Given the description of an element on the screen output the (x, y) to click on. 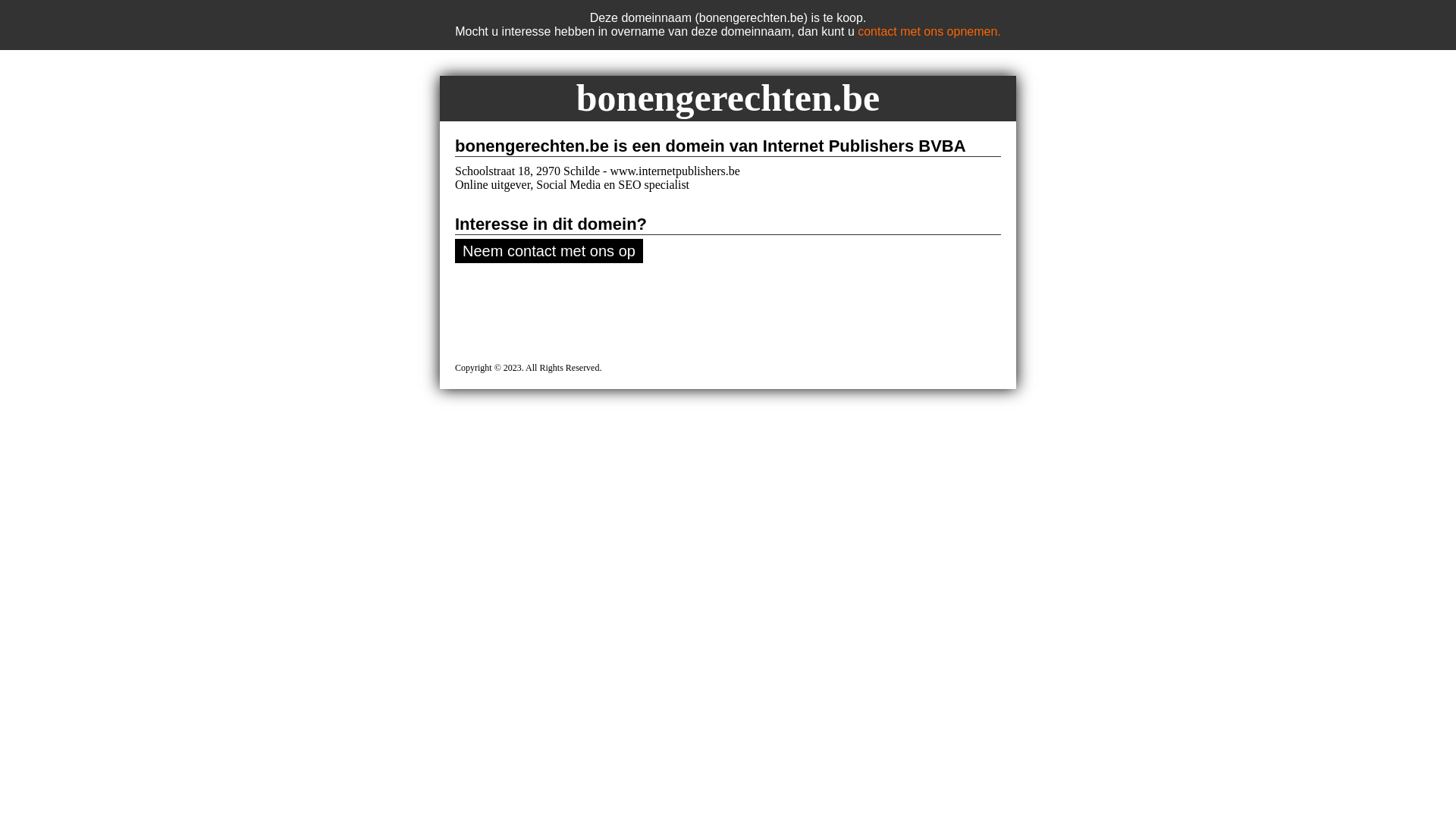
contact met ons opnemen. Element type: text (929, 31)
Neem contact met ons op Element type: text (549, 250)
